Given the description of an element on the screen output the (x, y) to click on. 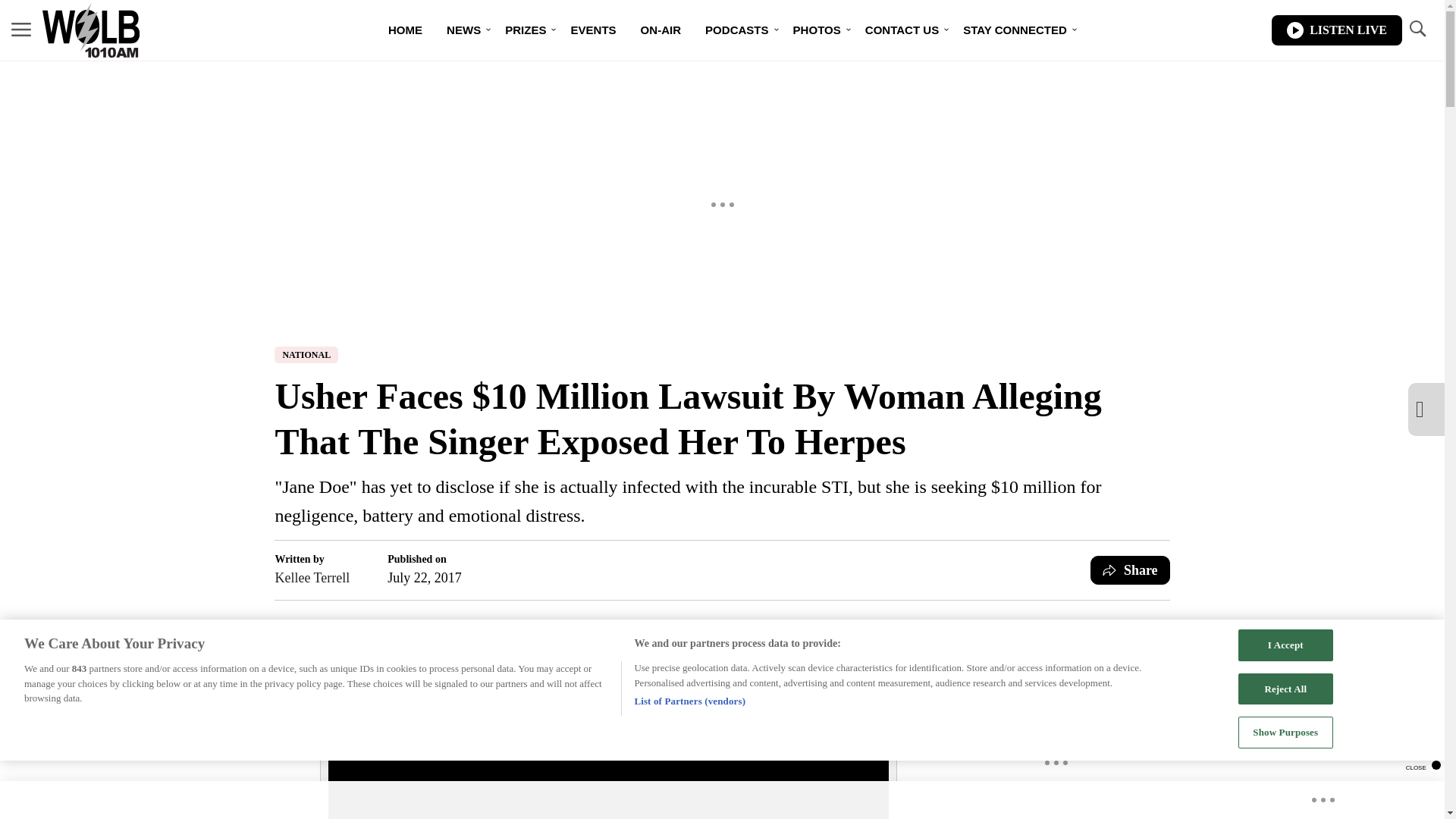
HOME (404, 30)
EVENTS (592, 30)
CONTACT US (901, 30)
PRIZES (525, 30)
TOGGLE SEARCH (1417, 28)
Kellee Terrell (312, 577)
PODCASTS (736, 30)
PHOTOS (816, 30)
NEWS (463, 30)
MENU (20, 29)
ON-AIR (660, 30)
STAY CONNECTED (1014, 30)
TOGGLE SEARCH (1417, 30)
MENU (20, 30)
NATIONAL (306, 354)
